Given the description of an element on the screen output the (x, y) to click on. 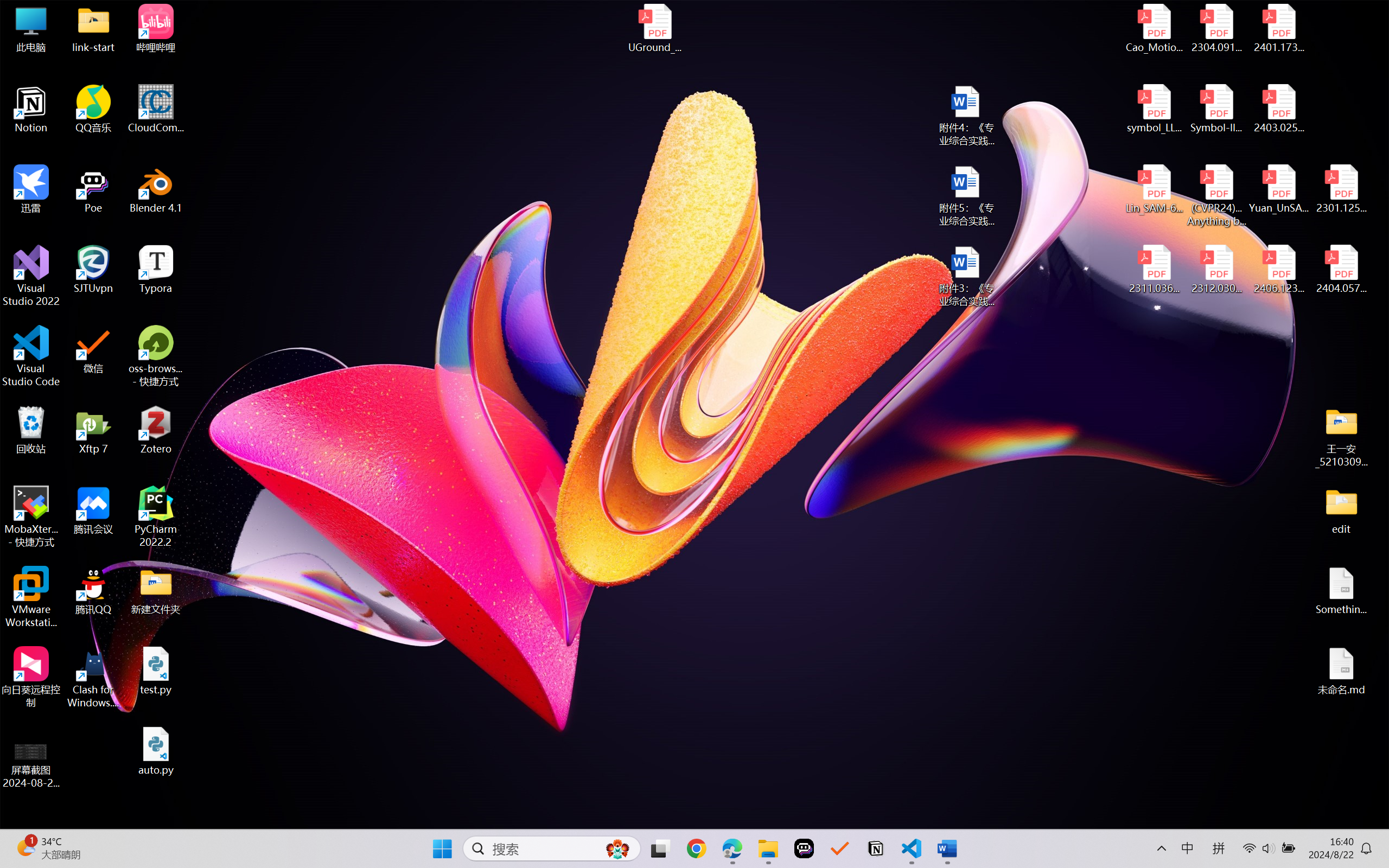
SJTUvpn (93, 269)
Visual Studio Code (31, 355)
PyCharm 2022.2 (156, 516)
Symbol-llm-v2.pdf (1216, 109)
Xftp 7 (93, 430)
